Given the description of an element on the screen output the (x, y) to click on. 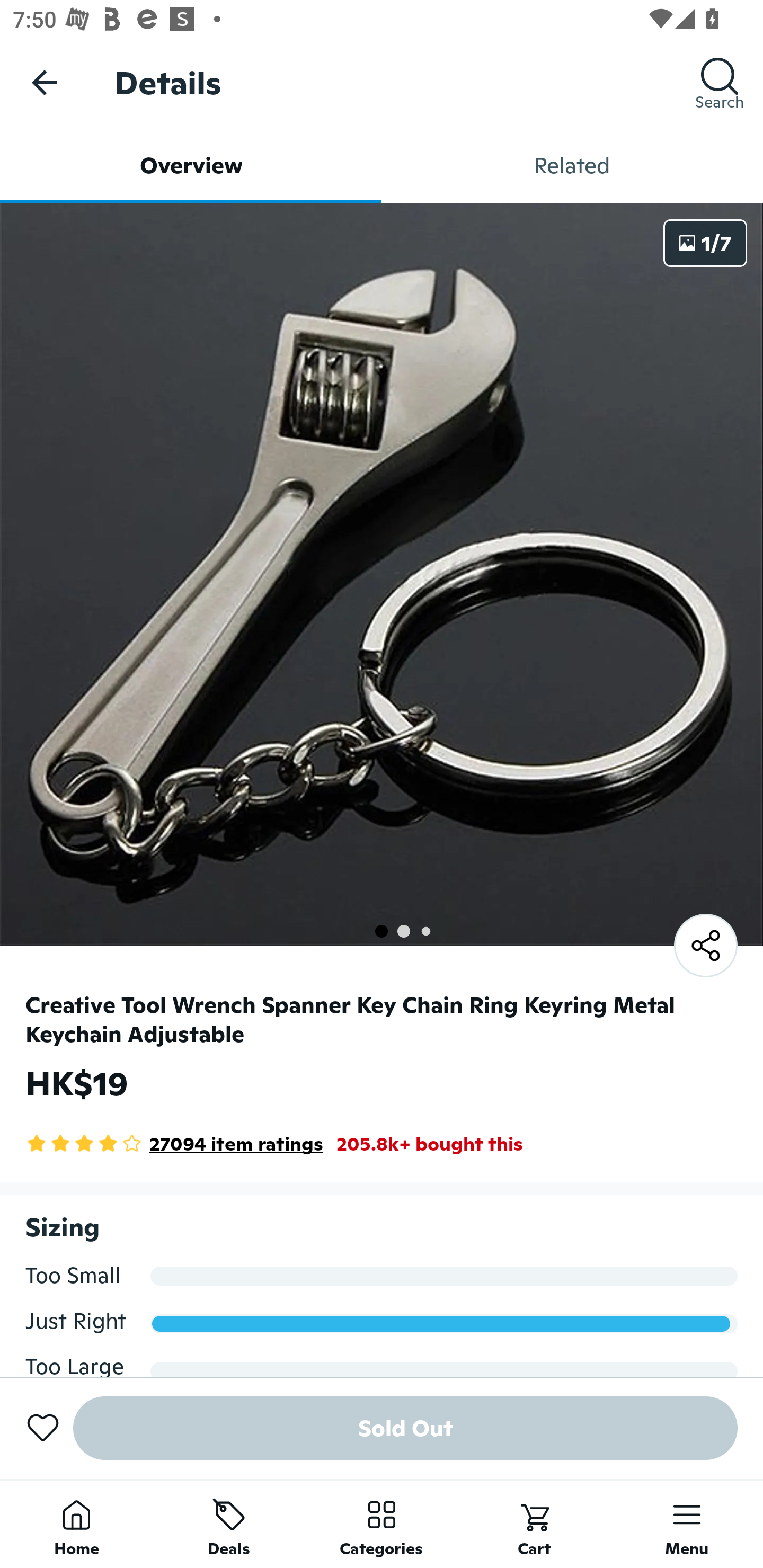
Navigate up (44, 82)
Search (719, 82)
Related (572, 165)
1/7 (705, 242)
4 Star Rating 27094 item ratings (174, 1143)
Sold Out (405, 1428)
Home (76, 1523)
Deals (228, 1523)
Categories (381, 1523)
Cart (533, 1523)
Menu (686, 1523)
